Given the description of an element on the screen output the (x, y) to click on. 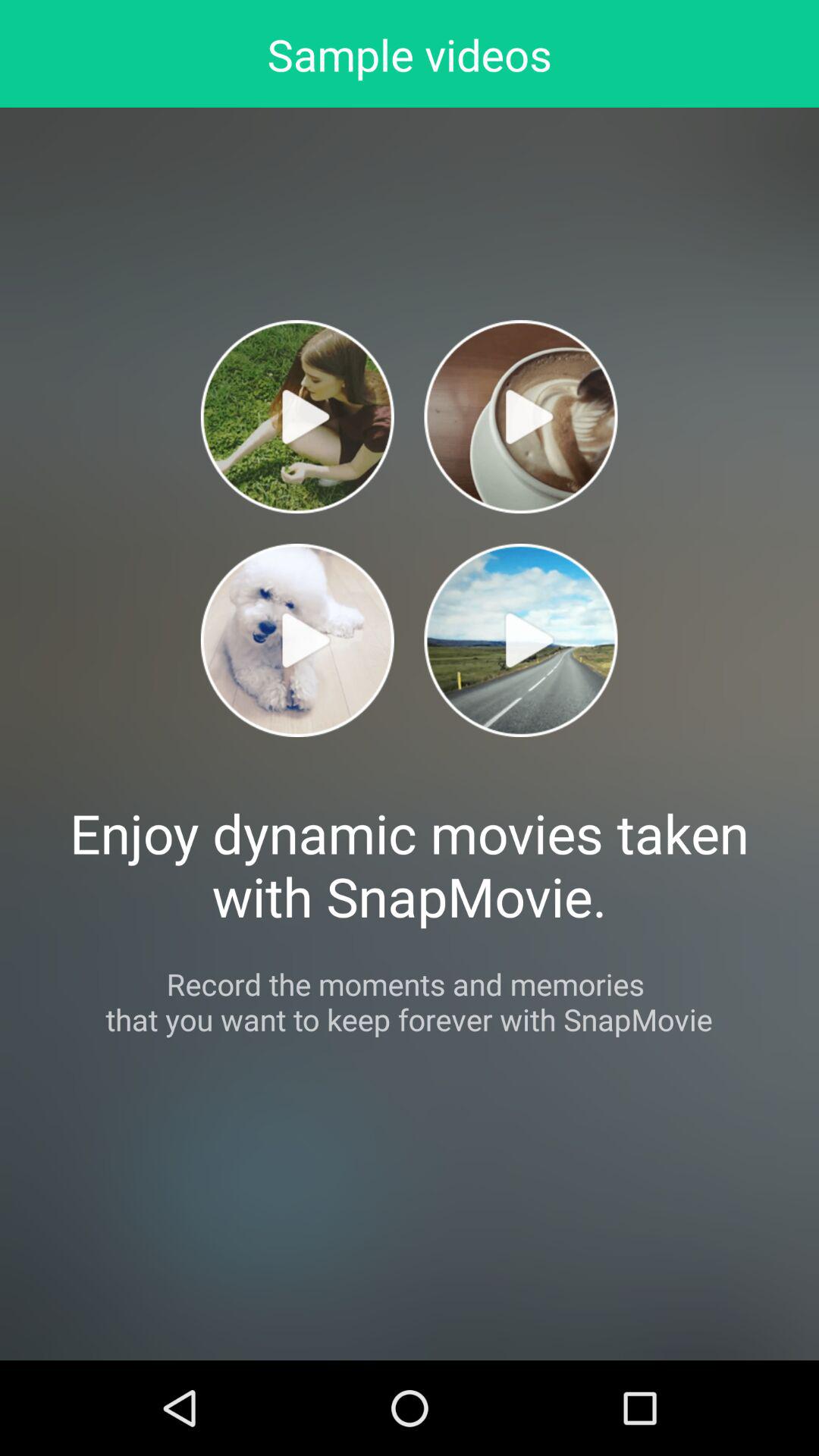
click on dog snapmovie (297, 640)
